Given the description of an element on the screen output the (x, y) to click on. 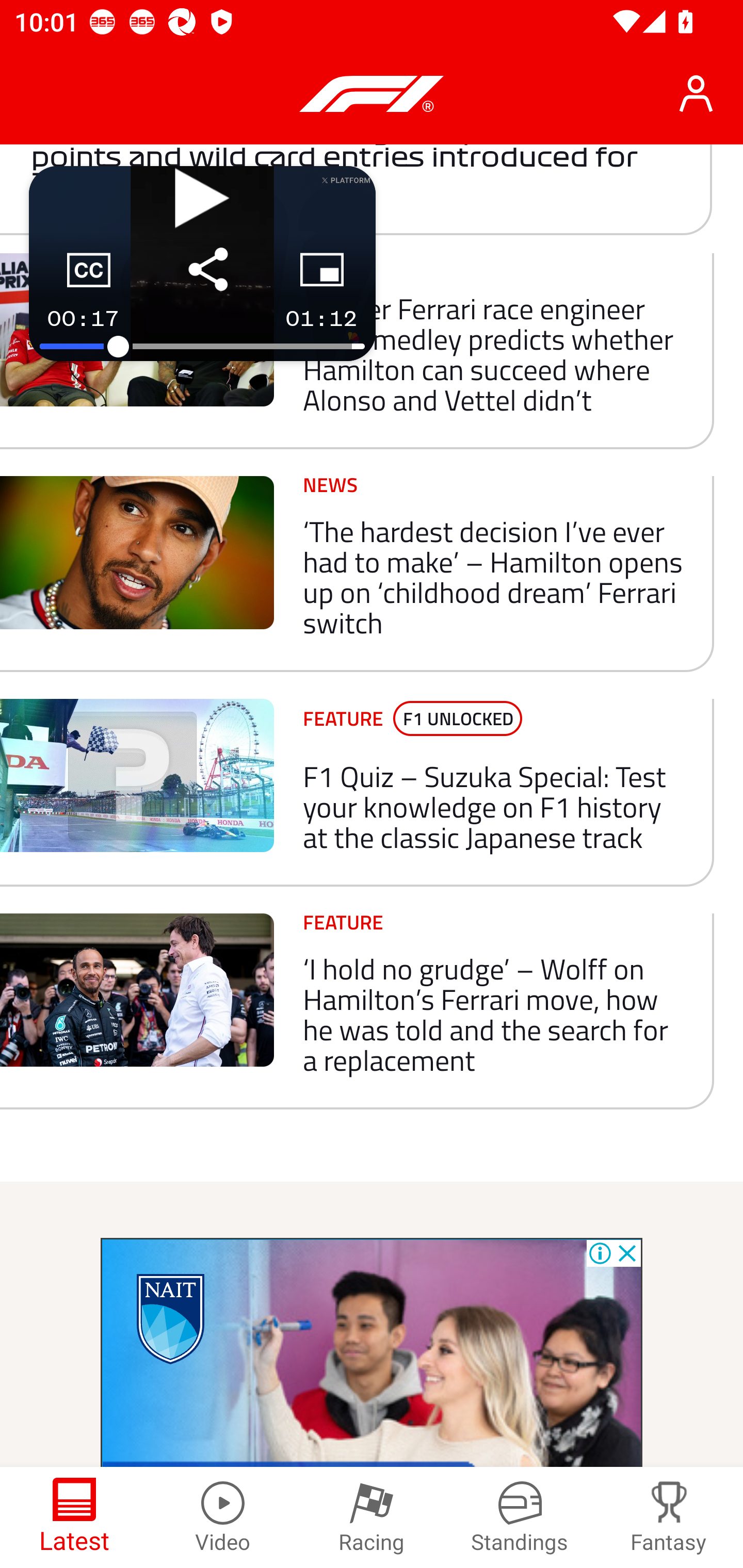
Video (222, 1517)
Racing (371, 1517)
Standings (519, 1517)
Fantasy (668, 1517)
